Given the description of an element on the screen output the (x, y) to click on. 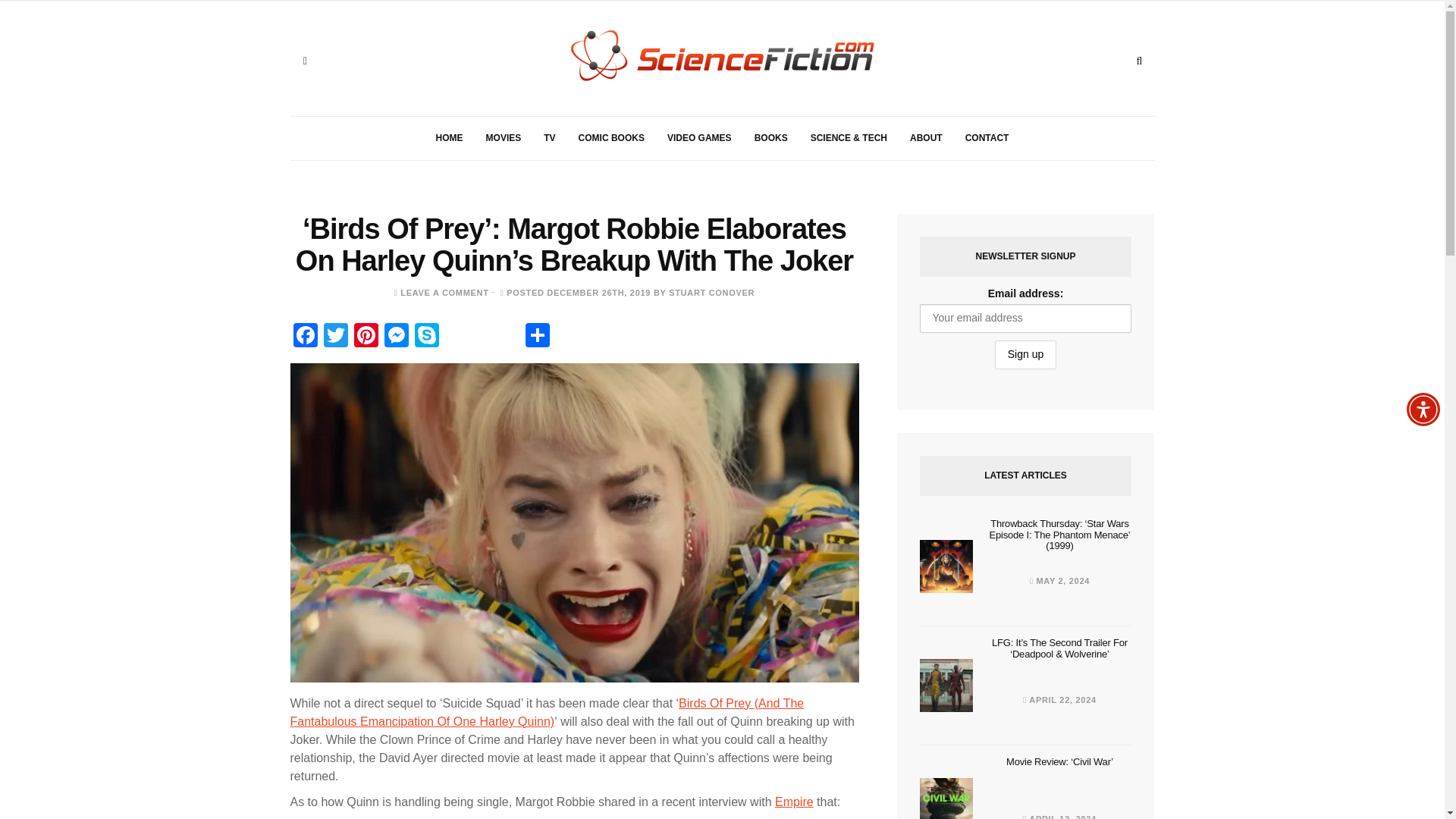
Sign up (1025, 354)
VIDEO GAMES (699, 138)
ABOUT (925, 138)
MOVIES (503, 138)
COMIC BOOKS (611, 138)
Accessibility Menu (1422, 409)
HOME (449, 138)
Twitter (335, 336)
Posts by Stuart Conover (711, 292)
CONTACT (986, 138)
